Given the description of an element on the screen output the (x, y) to click on. 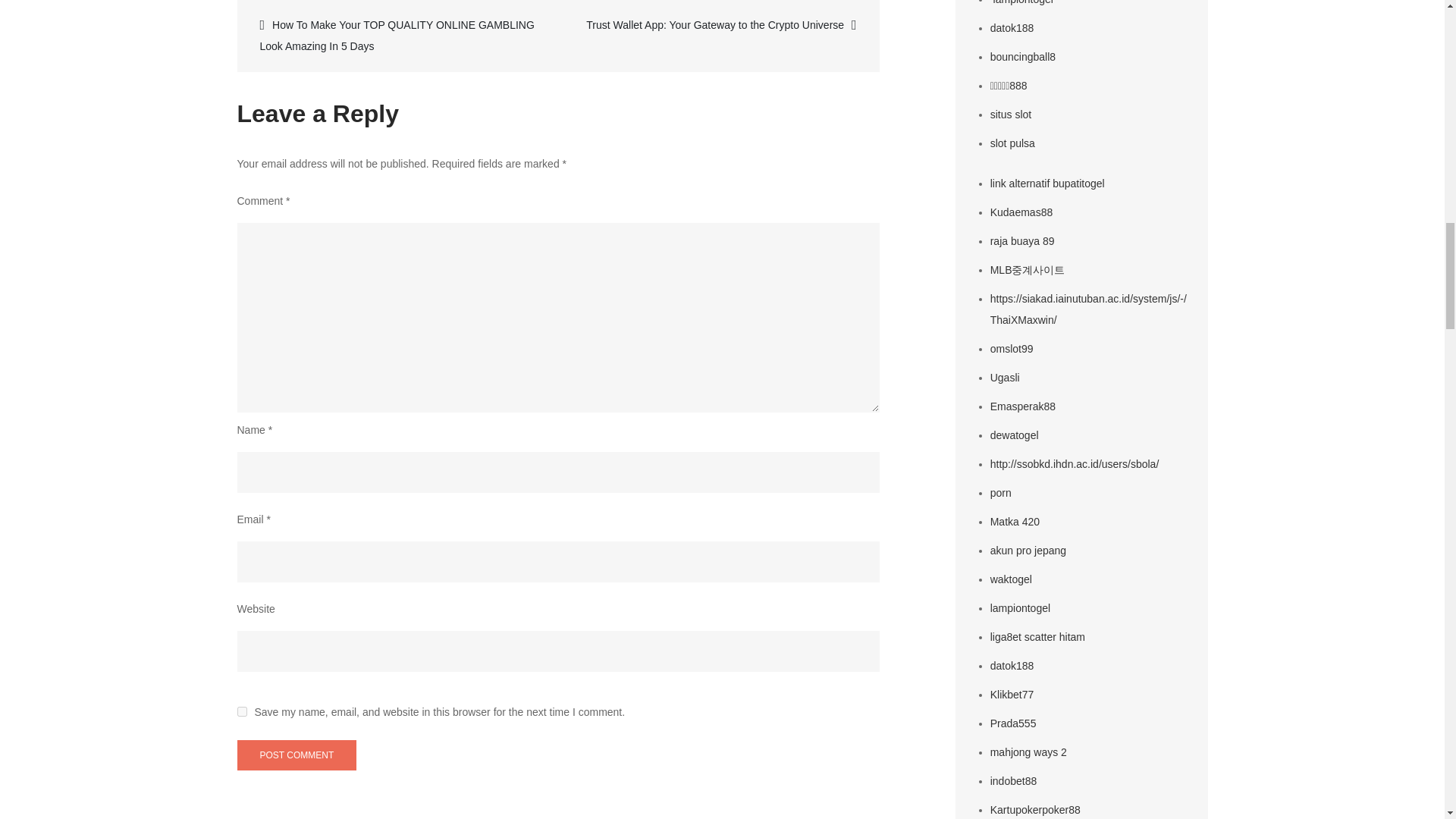
Post Comment (295, 755)
Trust Wallet App: Your Gateway to the Crypto Universe (716, 24)
yes (240, 711)
Post Comment (295, 755)
